Given the description of an element on the screen output the (x, y) to click on. 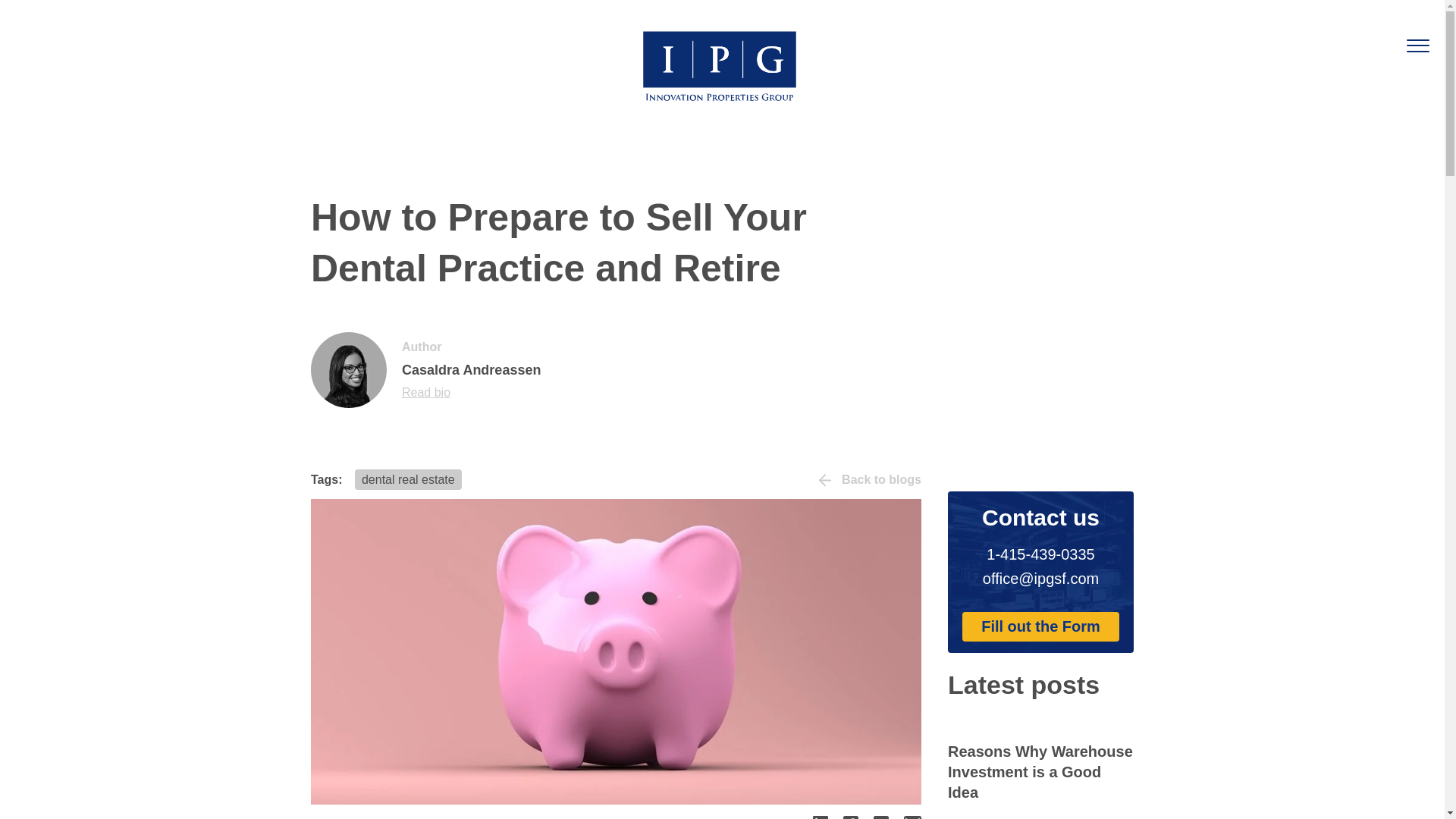
Facebook (851, 817)
Share via Email (912, 817)
Twitter (880, 817)
LinkedIn (820, 817)
